Given the description of an element on the screen output the (x, y) to click on. 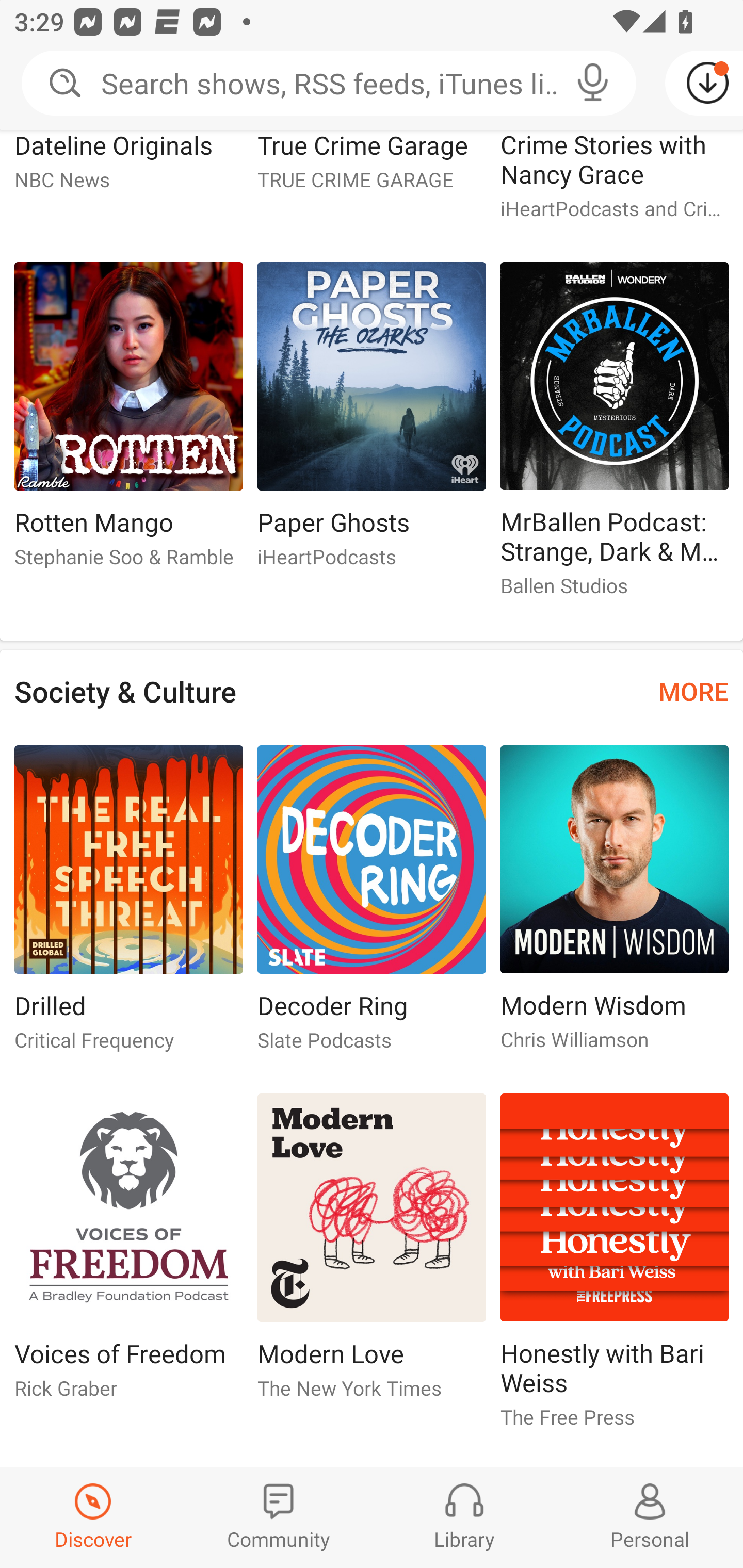
Rotten Mango Rotten Mango Stephanie Soo & Ramble (128, 422)
Paper Ghosts Paper Ghosts iHeartPodcasts (371, 422)
MORE (693, 691)
Drilled Drilled Critical Frequency (128, 905)
Decoder Ring Decoder Ring Slate Podcasts (371, 905)
Modern Wisdom Modern Wisdom Chris Williamson (614, 905)
Voices of Freedom Voices of Freedom Rick Graber (128, 1253)
Modern Love Modern Love The New York Times (371, 1253)
Discover (92, 1517)
Community (278, 1517)
Library (464, 1517)
Profiles and Settings Personal (650, 1517)
